Given the description of an element on the screen output the (x, y) to click on. 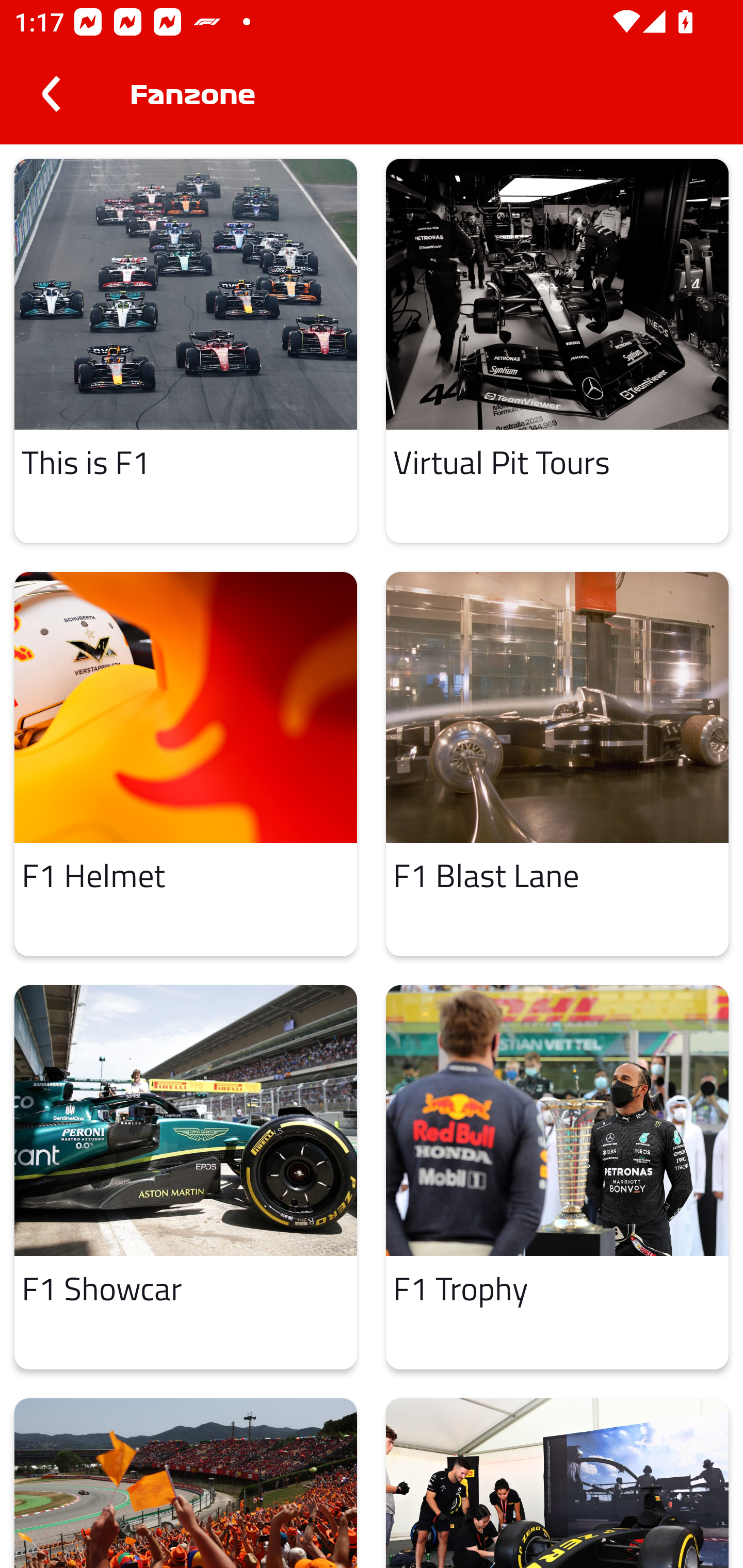
Navigate up (50, 93)
This is F1 (185, 350)
Virtual Pit Tours (556, 350)
F1 Helmet (185, 764)
F1 Blast Lane (556, 764)
F1 Showcar (185, 1176)
F1 Trophy (556, 1176)
